Given the description of an element on the screen output the (x, y) to click on. 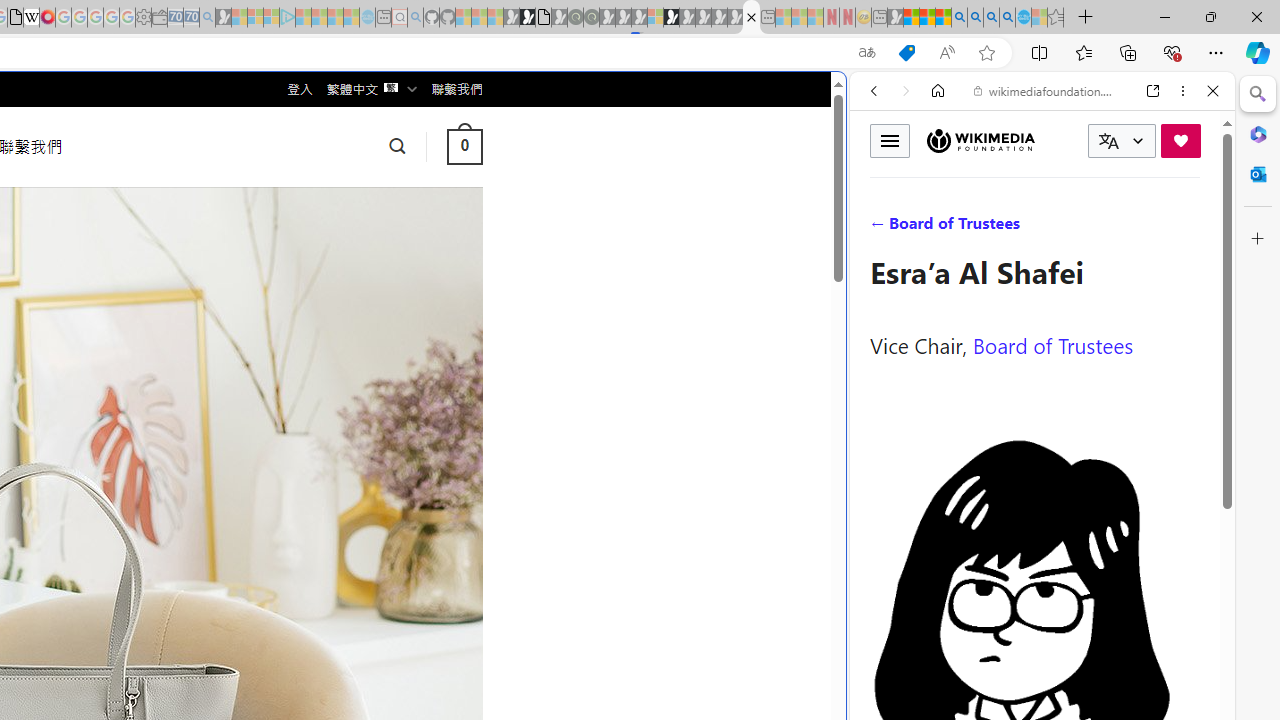
Restore (1210, 16)
Close split screen (844, 102)
Search Filter, WEB (882, 228)
Target page - Wikipedia (31, 17)
Services - Maintenance | Sky Blue Bikes - Sky Blue Bikes (1023, 17)
Search Filter, Search Tools (1093, 228)
Settings and more (Alt+F) (1215, 52)
Show translate options (867, 53)
Web scope (882, 180)
